Given the description of an element on the screen output the (x, y) to click on. 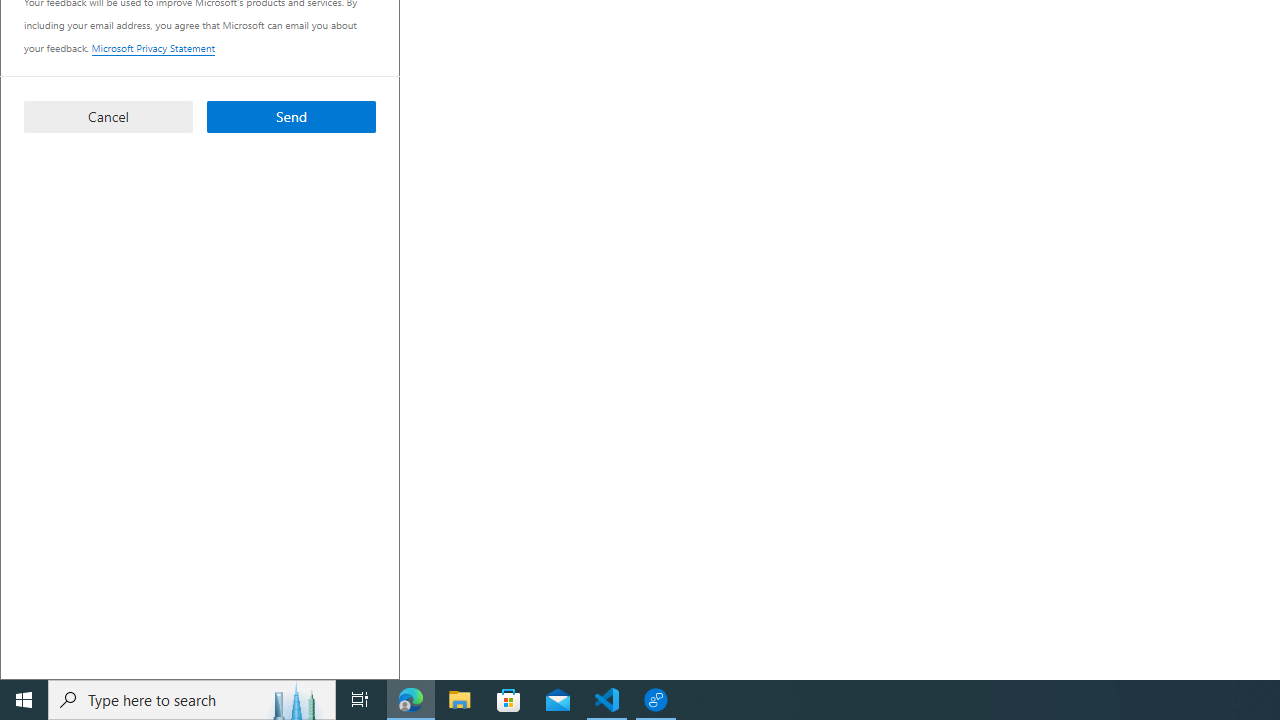
Other important privacy information (605, 209)
Top of page (1001, 534)
Artificial Intelligence and Microsoft Copilot capabilities (696, 306)
Windows (509, 446)
How to access and control your personal data (696, 35)
Microsoft account (696, 139)
Productivity and communications products (628, 376)
Learn More about Personal data we collect (985, 504)
Search and browse (543, 412)
Cookies and similar technologies (648, 654)
Enterprise and developer products (598, 341)
Entertainment and related services (598, 481)
Cookies and similar technologies (696, 69)
